Given the description of an element on the screen output the (x, y) to click on. 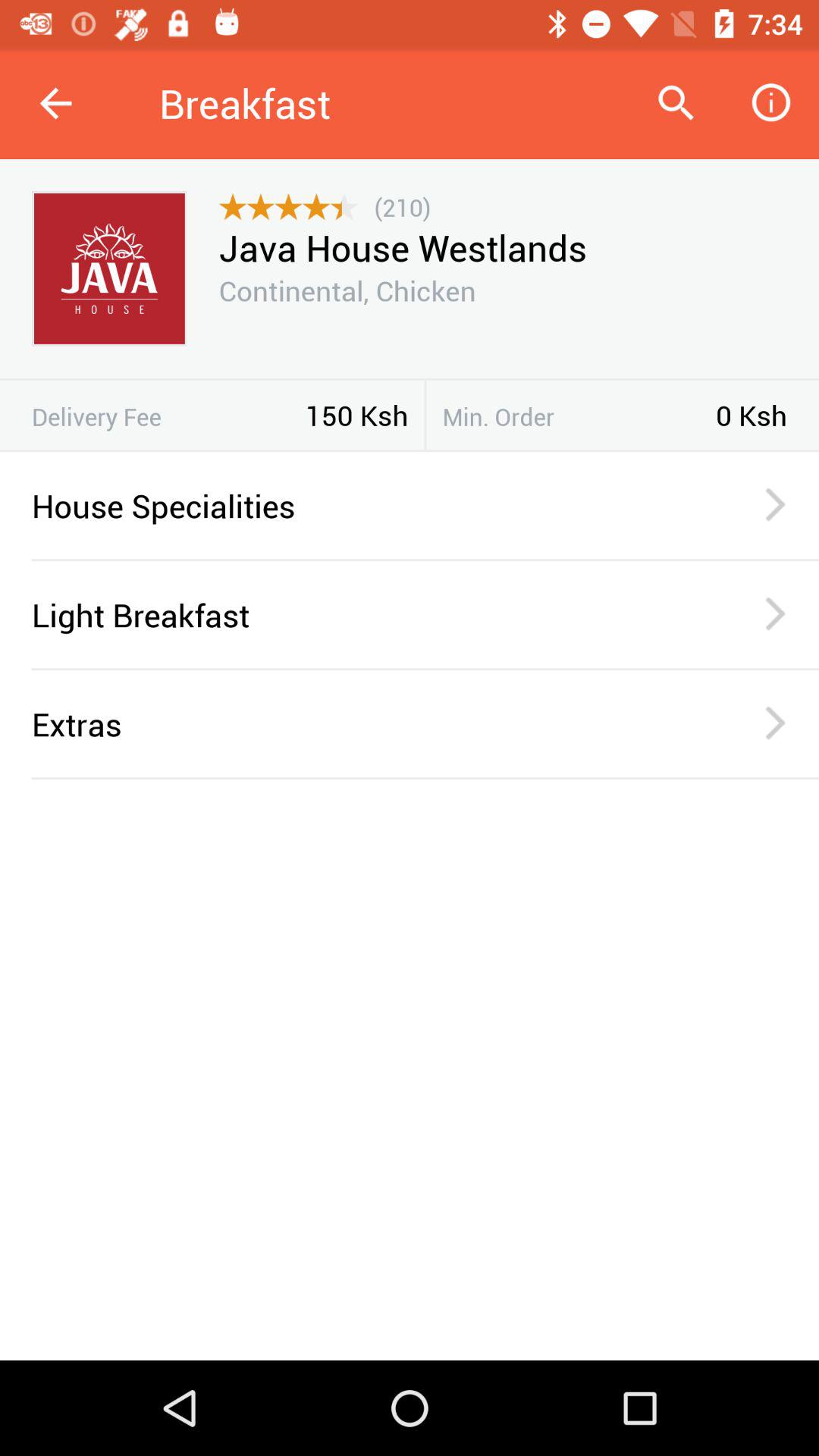
click item to the right of breakfast item (675, 103)
